Given the description of an element on the screen output the (x, y) to click on. 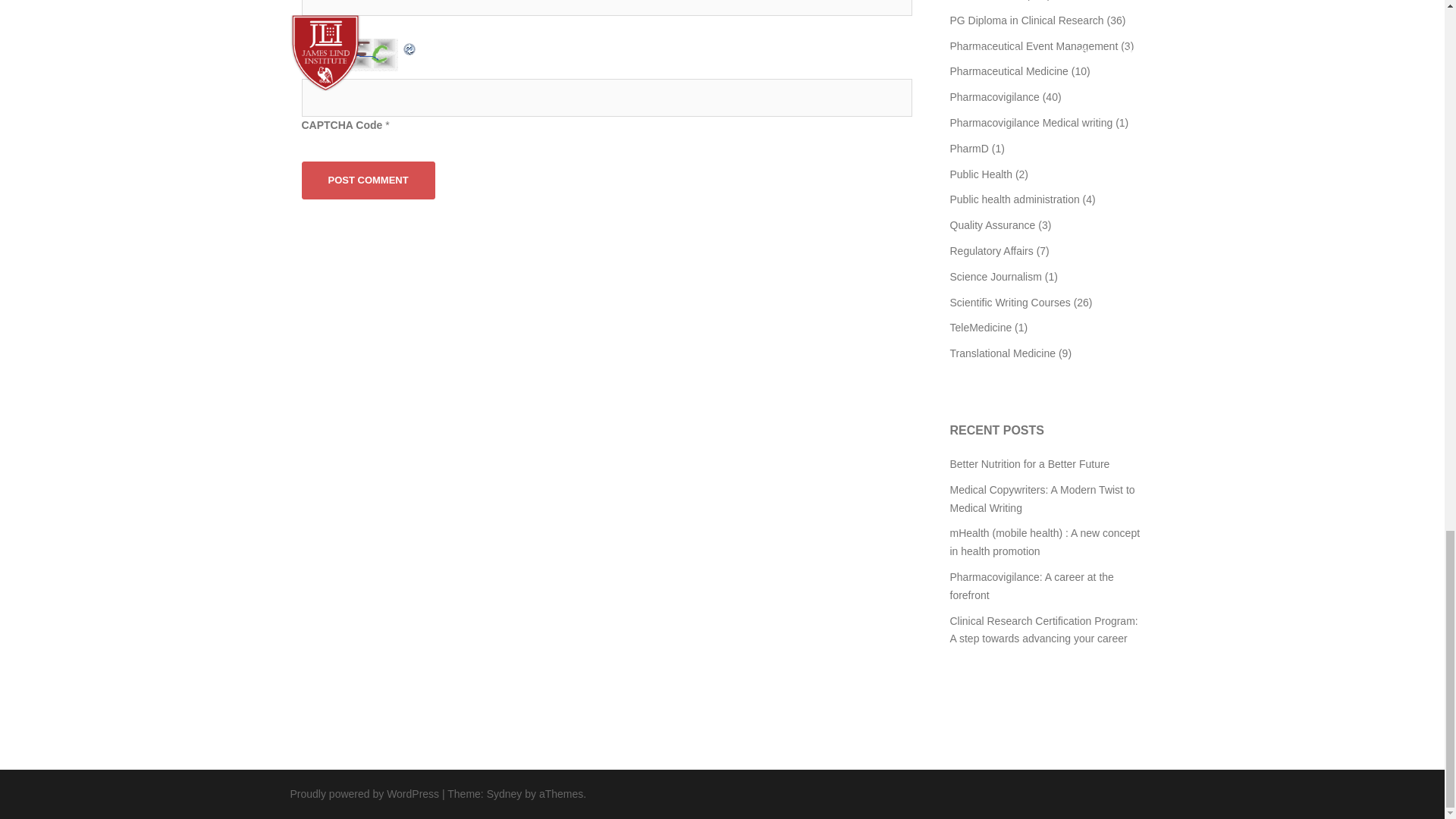
Post Comment (368, 180)
CAPTCHA (351, 54)
Post Comment (368, 180)
Refresh (410, 46)
